Given the description of an element on the screen output the (x, y) to click on. 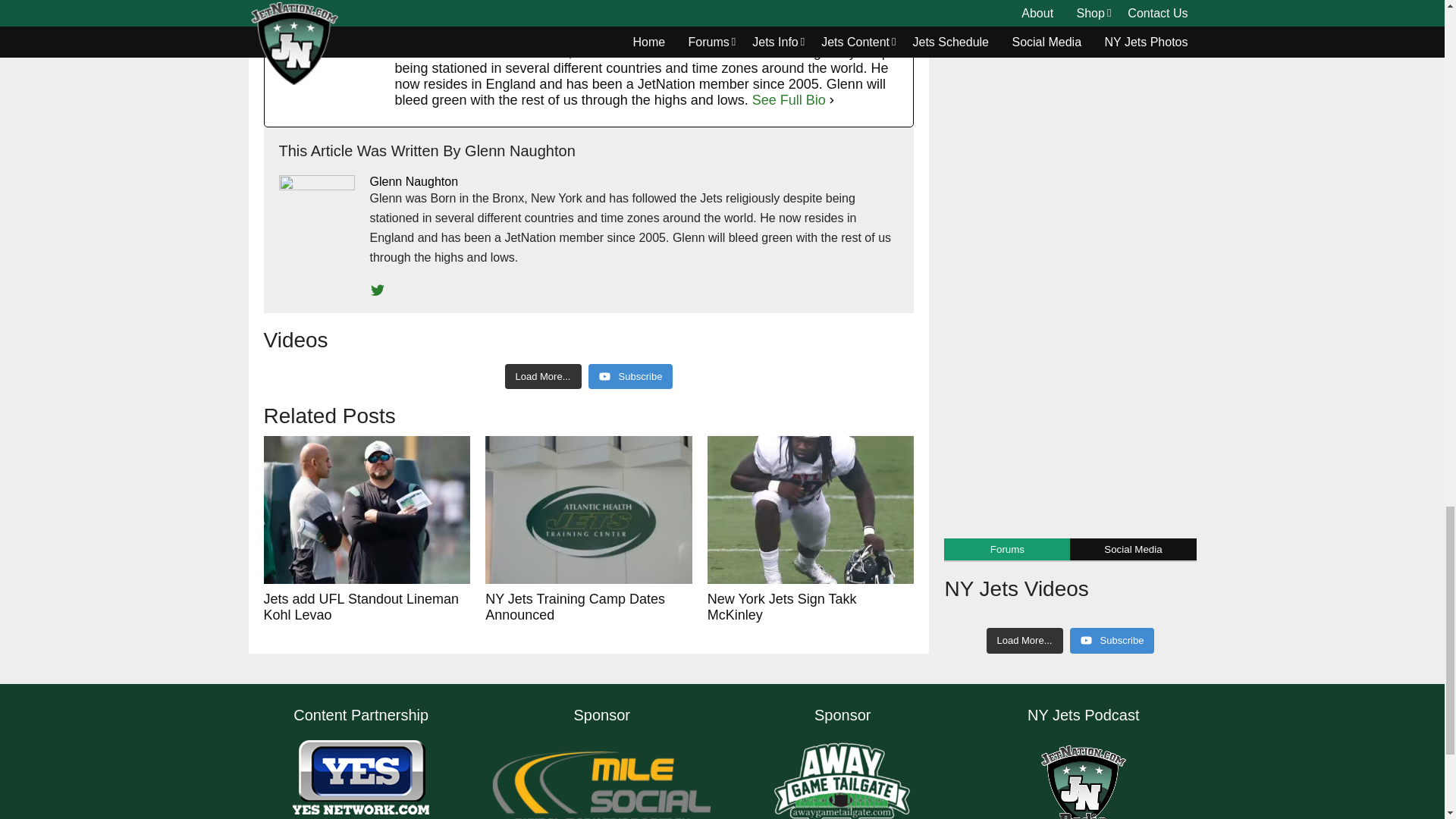
NY Jets Training Camp Dates Announced (588, 509)
Jets add UFL Standout Lineman Kohl Levao (366, 509)
New York Jets Sign Takk McKinley (810, 509)
